Given the description of an element on the screen output the (x, y) to click on. 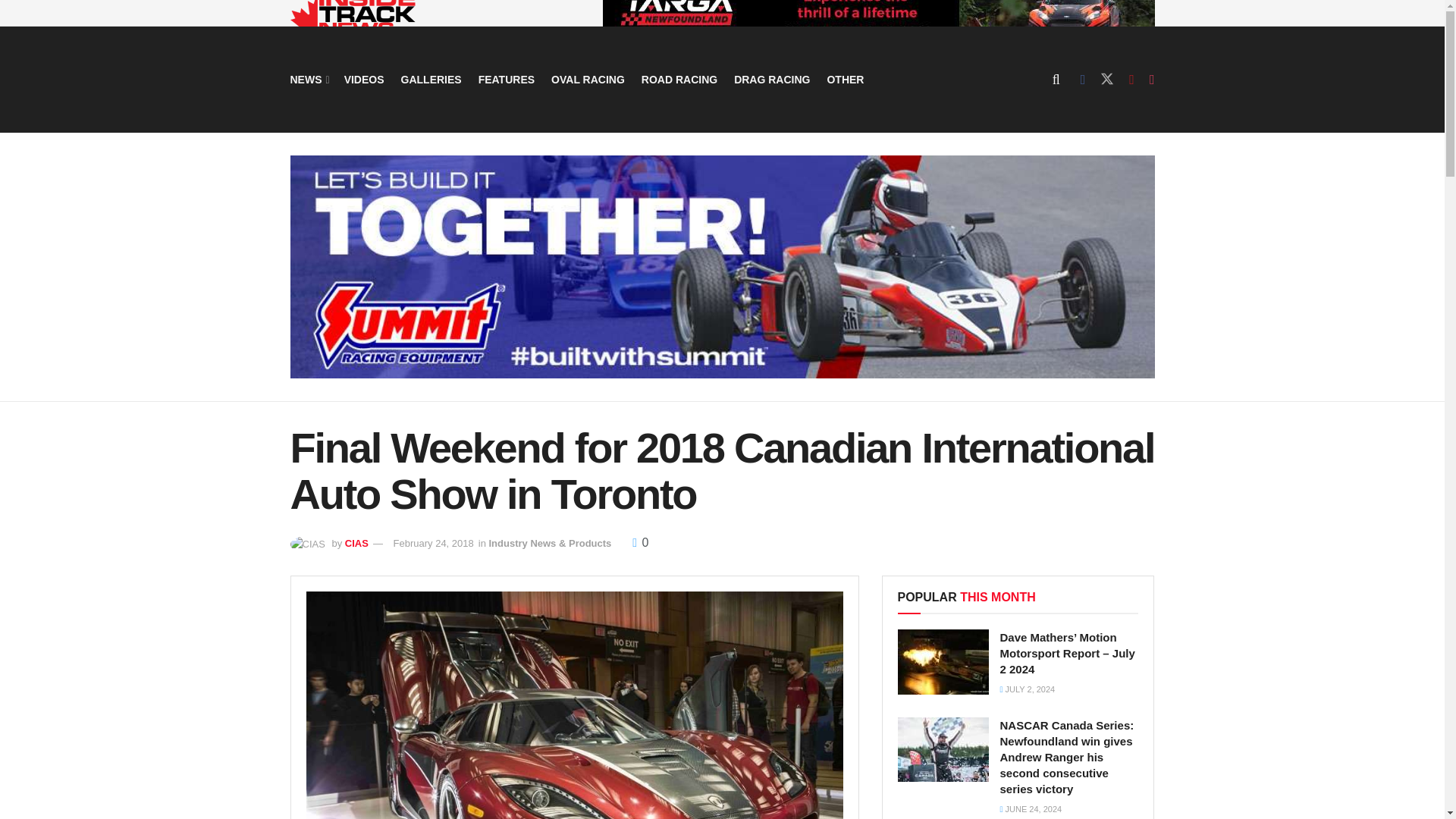
FEATURES (506, 79)
VIDEOS (363, 79)
DRAG RACING (771, 79)
GALLERIES (431, 79)
NEWS (307, 79)
ROAD RACING (679, 79)
OTHER (845, 79)
OVAL RACING (587, 79)
